Given the description of an element on the screen output the (x, y) to click on. 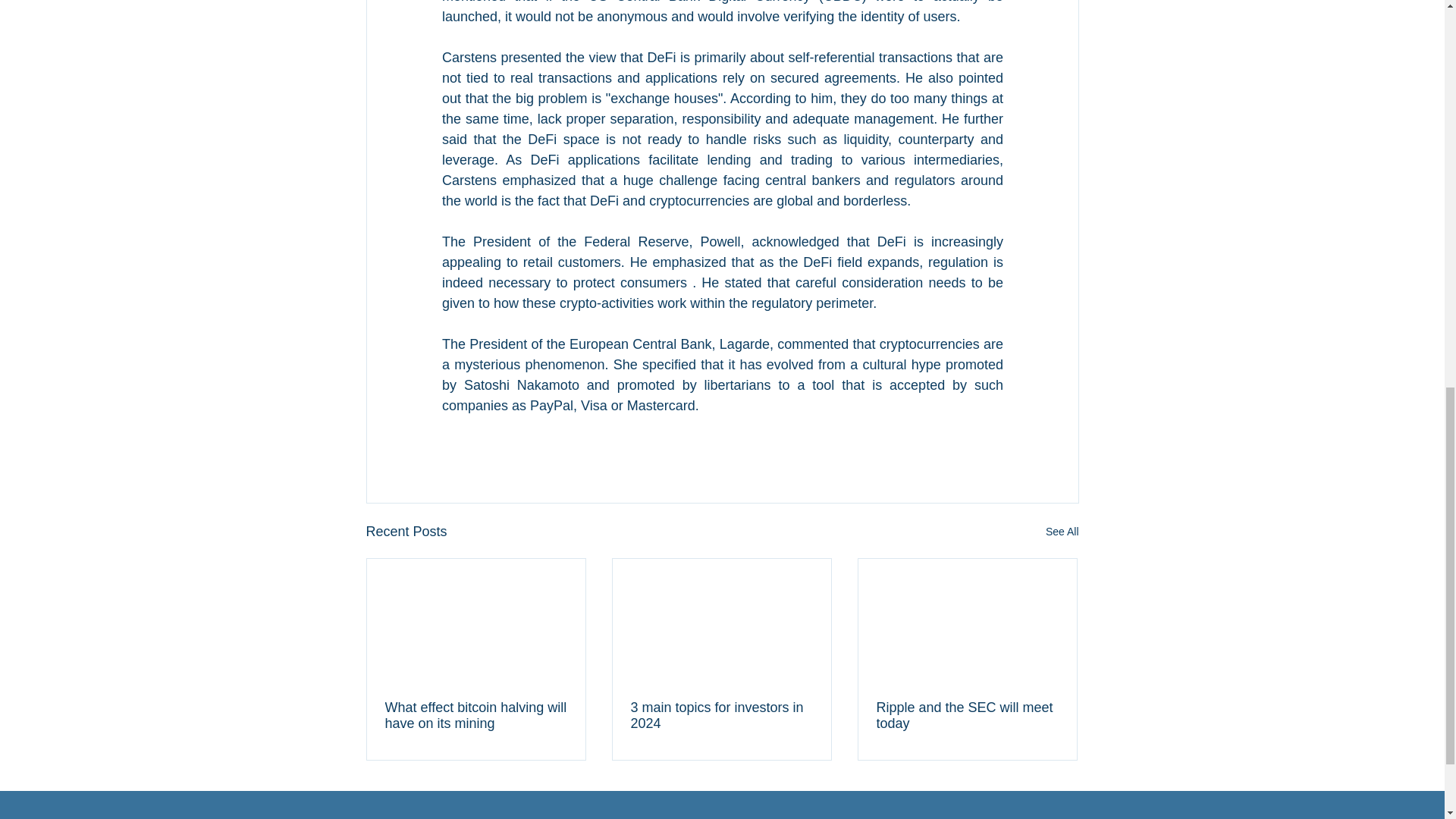
Ripple and the SEC will meet today (967, 716)
3 main topics for investors in 2024 (721, 716)
What effect bitcoin halving will have on its mining (476, 716)
Disclaimer (453, 814)
See All (1061, 531)
Privacy Policy (719, 814)
